Given the description of an element on the screen output the (x, y) to click on. 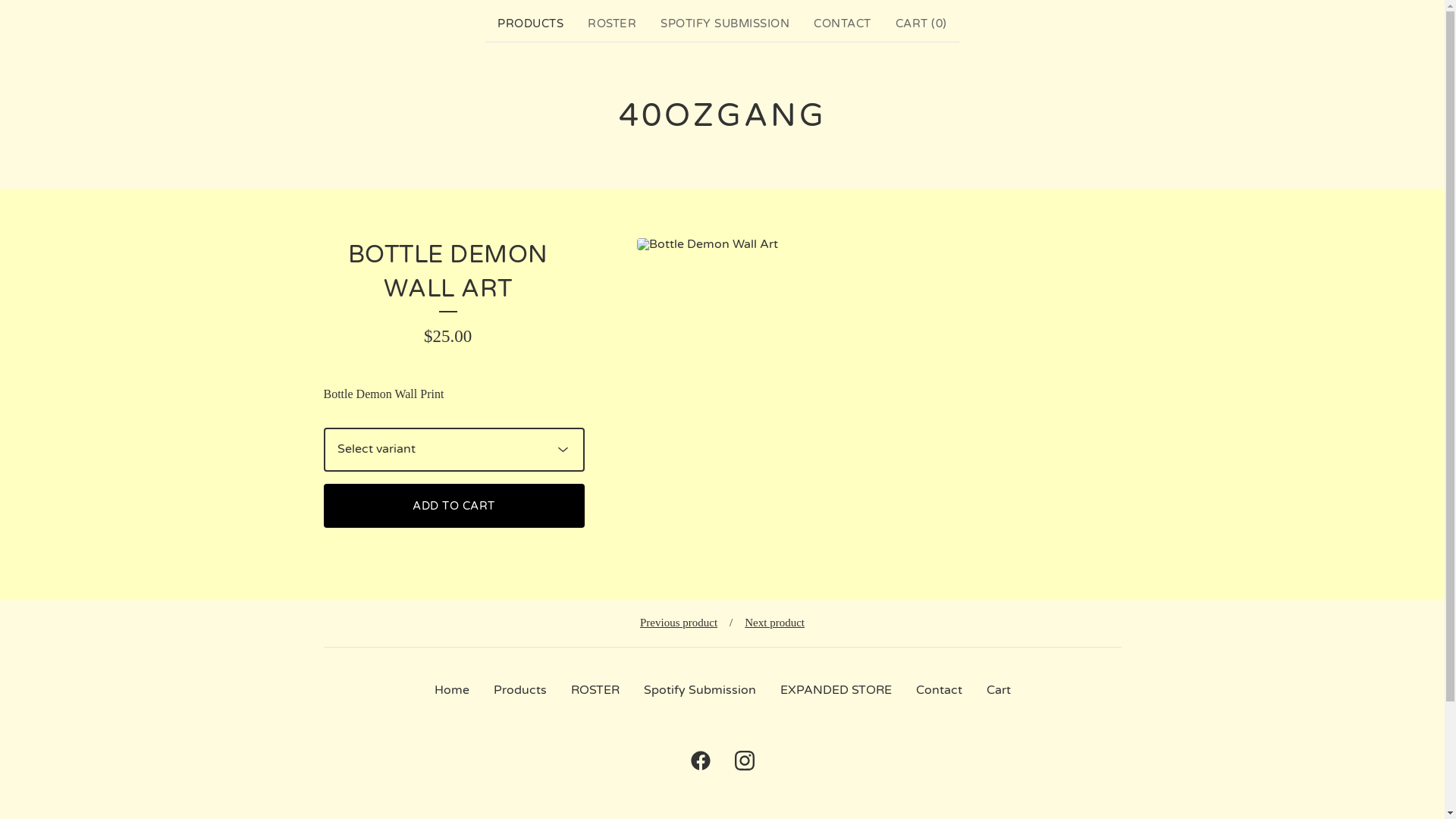
CART (0) Element type: text (921, 23)
Products Element type: text (519, 689)
Previous product Element type: text (678, 622)
ADD TO CART Element type: text (453, 505)
EXPANDED STORE Element type: text (835, 689)
Cart Element type: text (997, 689)
Facebook Element type: hover (699, 760)
Contact Element type: text (938, 689)
ROSTER Element type: text (611, 23)
CONTACT Element type: text (842, 23)
40OZGANG Element type: text (722, 115)
PRODUCTS Element type: text (530, 23)
Next product Element type: text (774, 622)
SPOTIFY SUBMISSION Element type: text (724, 23)
Spotify Submission Element type: text (698, 689)
Home Element type: text (450, 689)
ROSTER Element type: text (594, 689)
Instagram Element type: hover (743, 760)
